Given the description of an element on the screen output the (x, y) to click on. 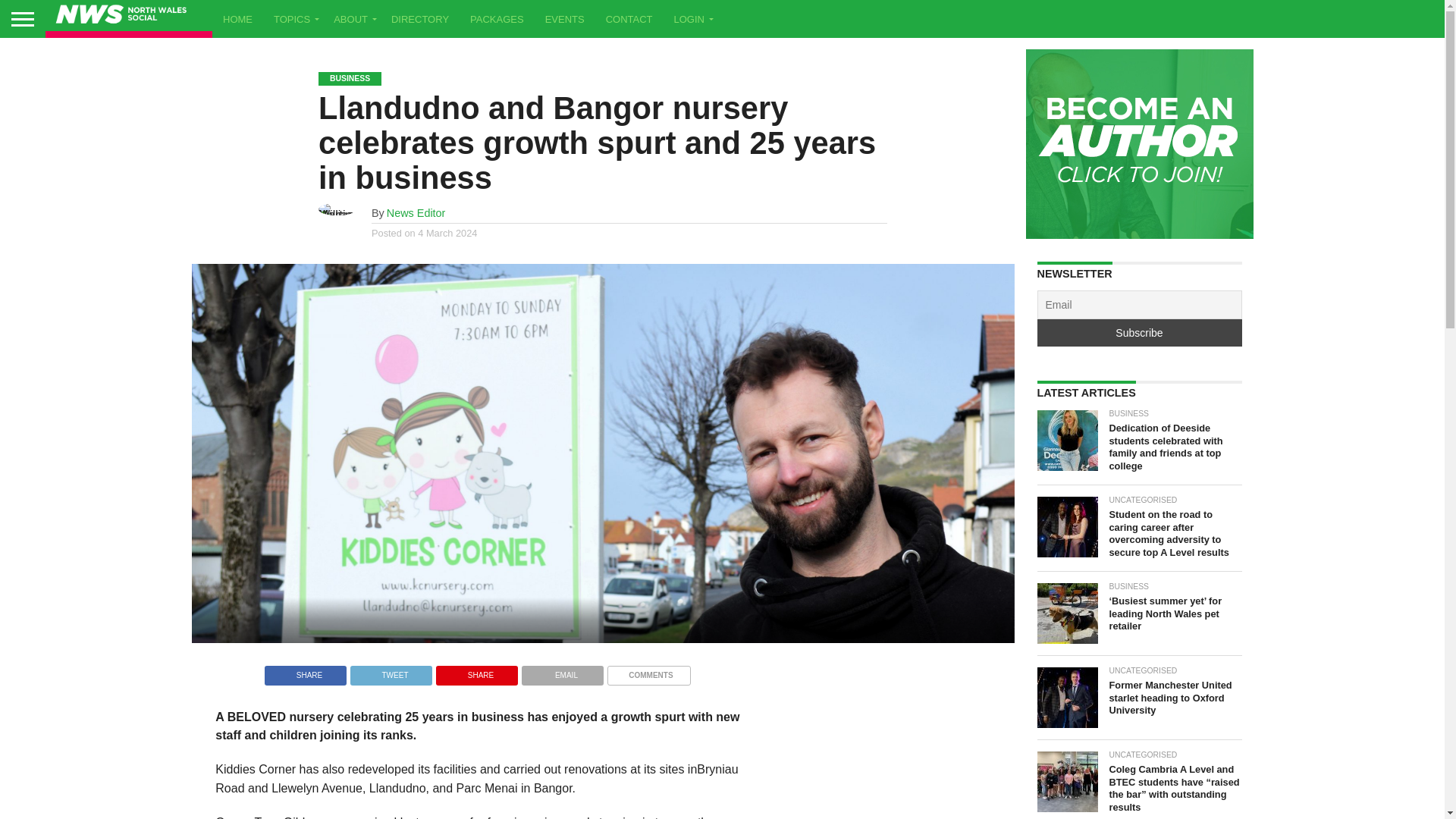
Posts by News Editor (416, 213)
Subscribe (1138, 332)
TOPICS (293, 18)
Pin This Post (476, 671)
Share on Facebook (305, 671)
HOME (237, 18)
Tweet This Post (390, 671)
